Given the description of an element on the screen output the (x, y) to click on. 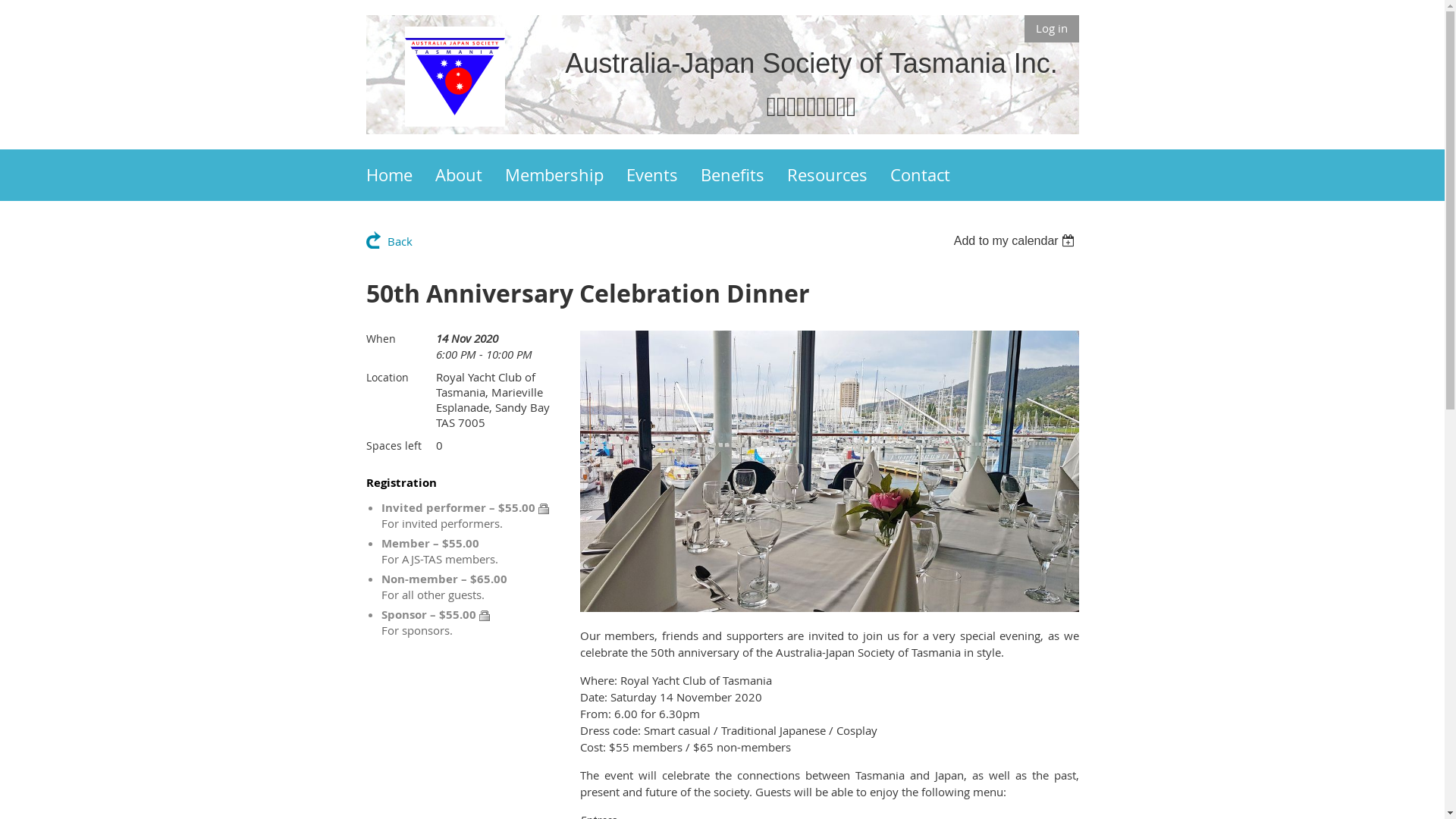
Contact Element type: text (931, 174)
Back Element type: text (388, 239)
Registration code required Element type: hover (543, 508)
About Element type: text (470, 174)
Benefits Element type: text (743, 174)
Membership Element type: text (565, 174)
Events Element type: text (663, 174)
Log in Element type: text (1050, 28)
Registration code required Element type: hover (484, 615)
Resources Element type: text (838, 174)
Home Element type: text (399, 174)
